Given the description of an element on the screen output the (x, y) to click on. 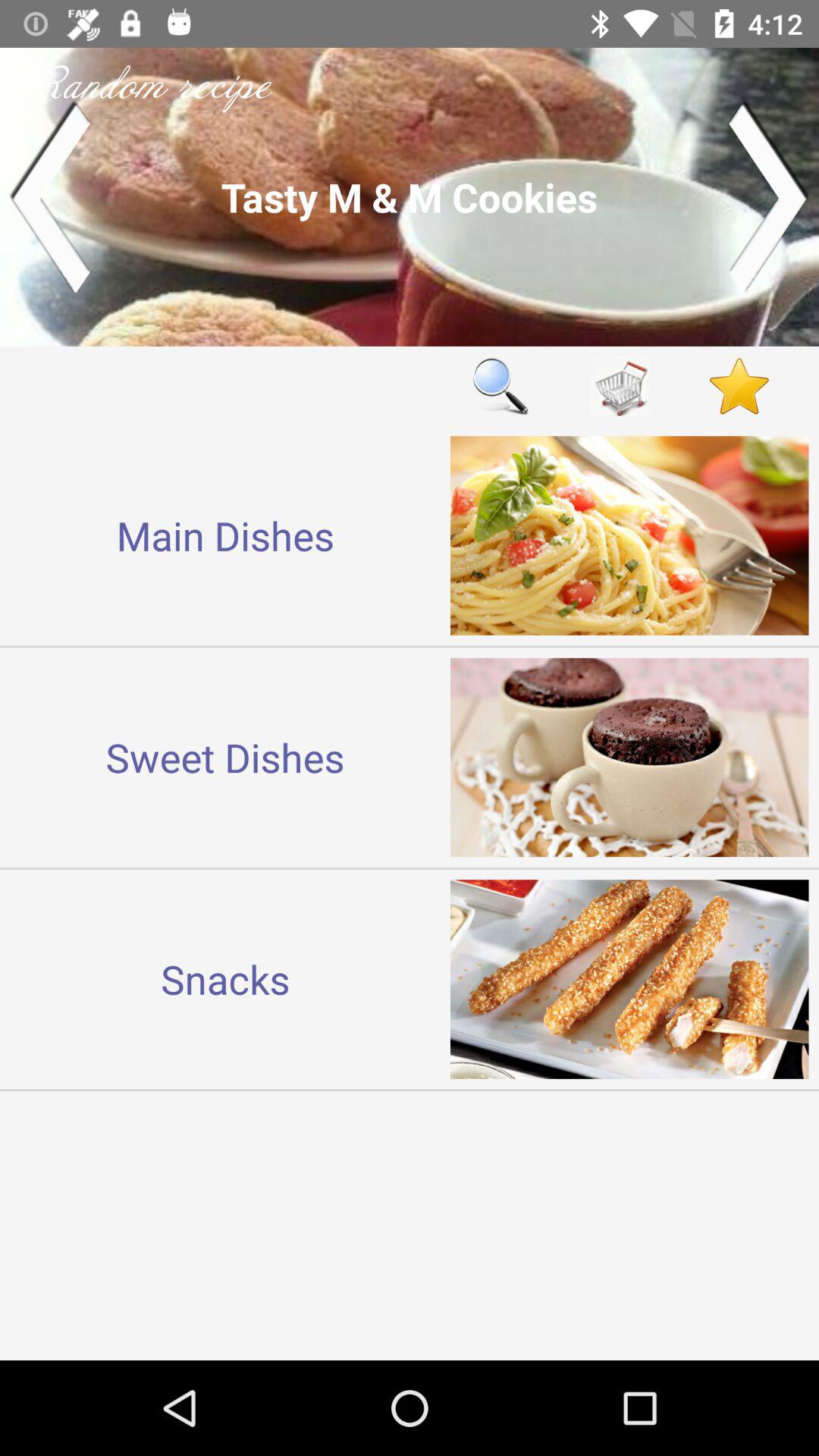
jump to the snacks icon (225, 978)
